Given the description of an element on the screen output the (x, y) to click on. 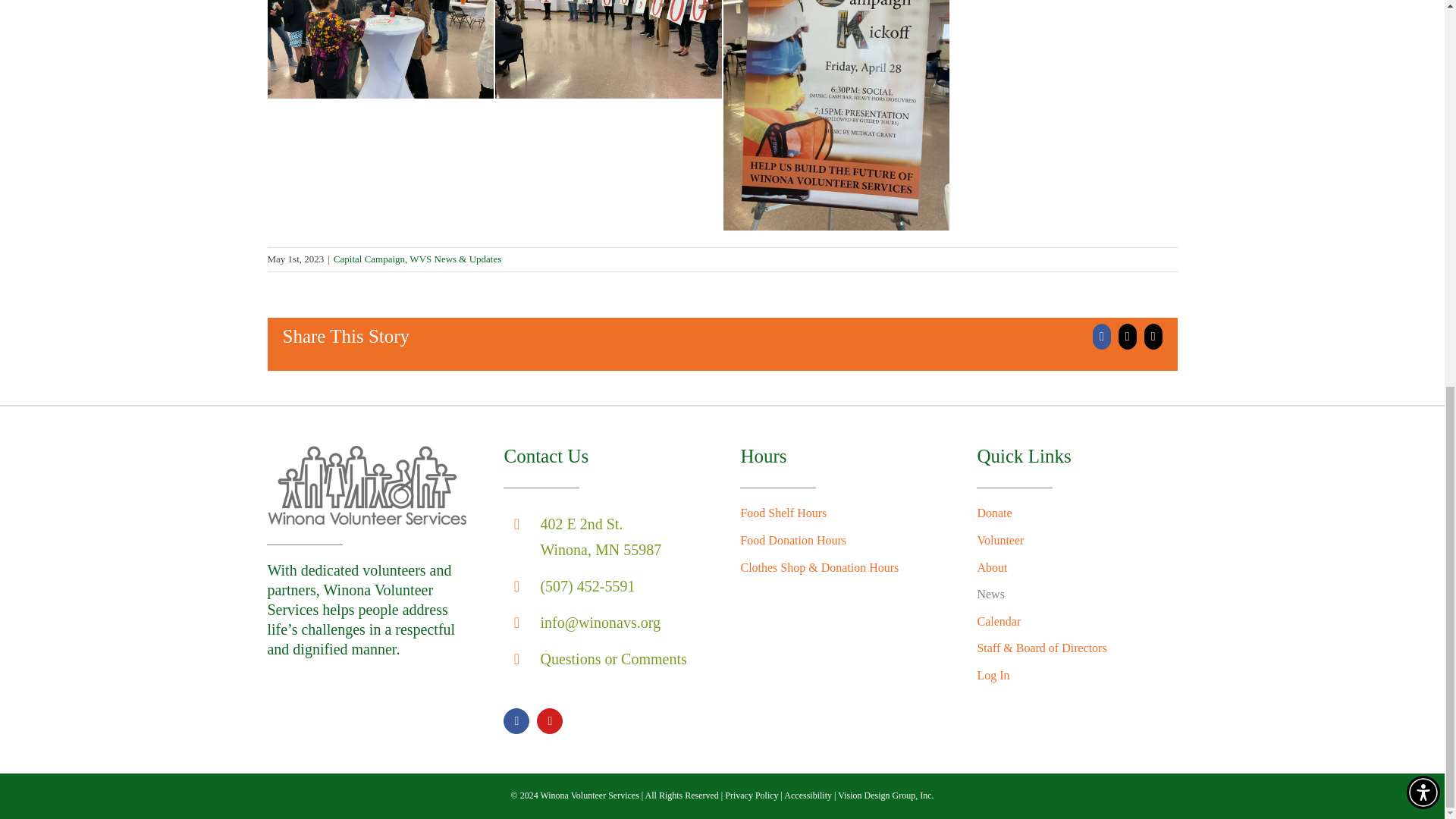
Accessibility Menu (1422, 61)
Contact (612, 658)
